Given the description of an element on the screen output the (x, y) to click on. 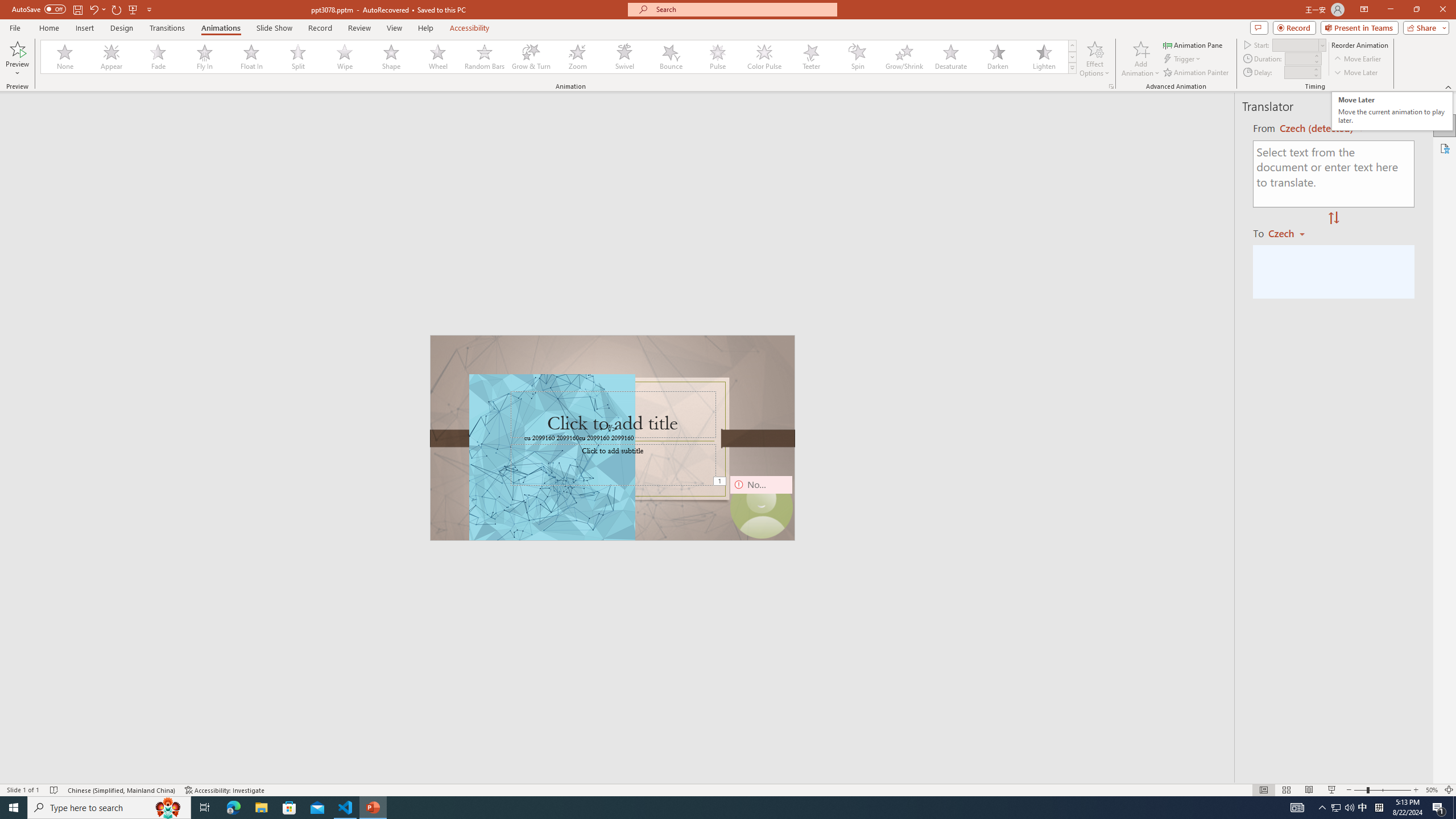
Subtitle TextBox (613, 464)
Random Bars (484, 56)
Move Earlier (1357, 58)
TextBox 61 (611, 438)
Animation Delay (1297, 72)
Split (298, 56)
TextBox 7 (608, 428)
Trigger (1182, 58)
Fade (158, 56)
Czech (1291, 232)
